Given the description of an element on the screen output the (x, y) to click on. 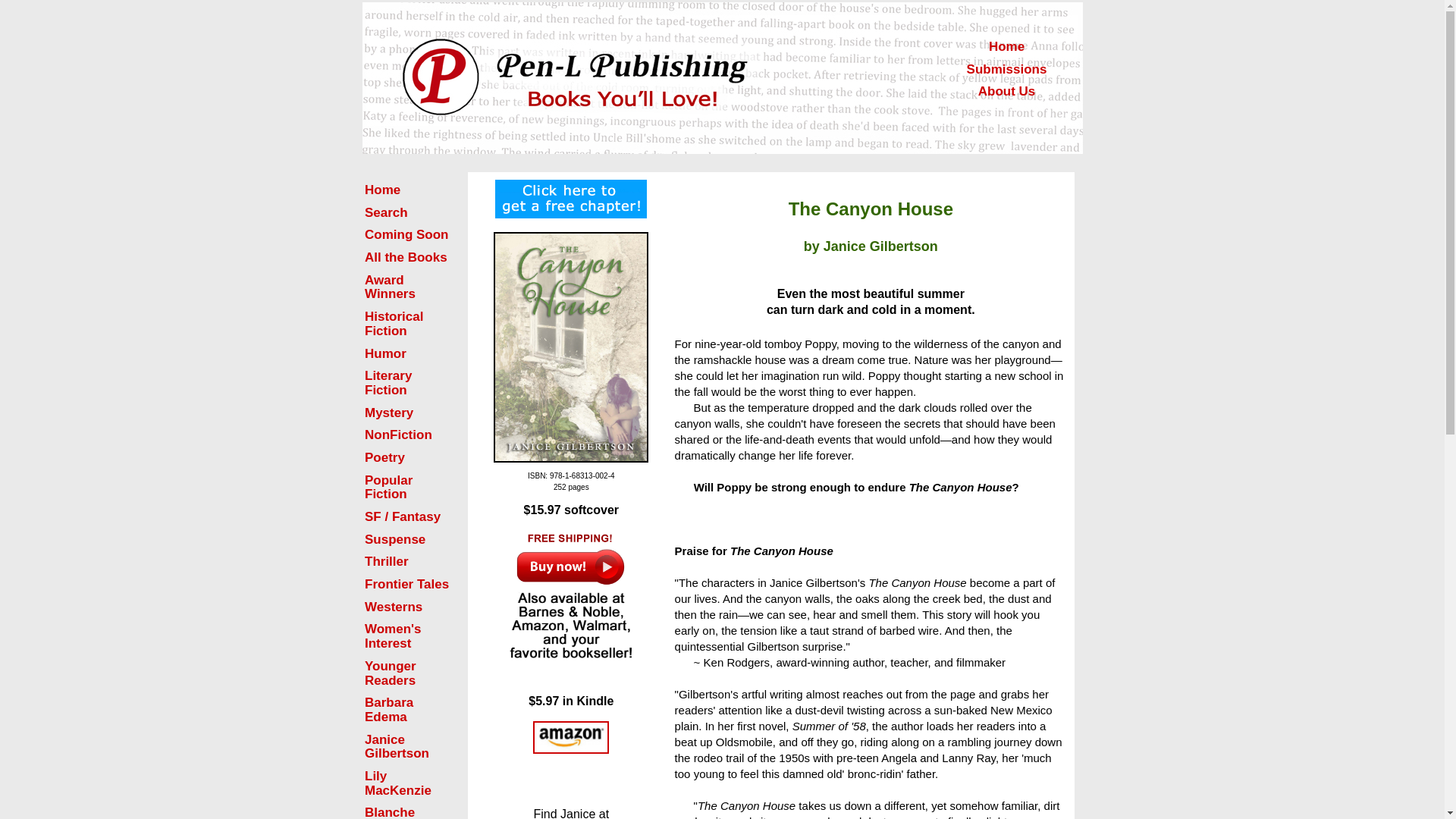
All the Books (405, 257)
Search (386, 212)
Home (1006, 46)
Popular Fiction (388, 487)
Award Winners (389, 287)
Blanche Manos (389, 812)
Lily MacKenzie (397, 783)
Frontier Tales (406, 584)
About Us (1006, 91)
Barbara Edema (389, 709)
